Given the description of an element on the screen output the (x, y) to click on. 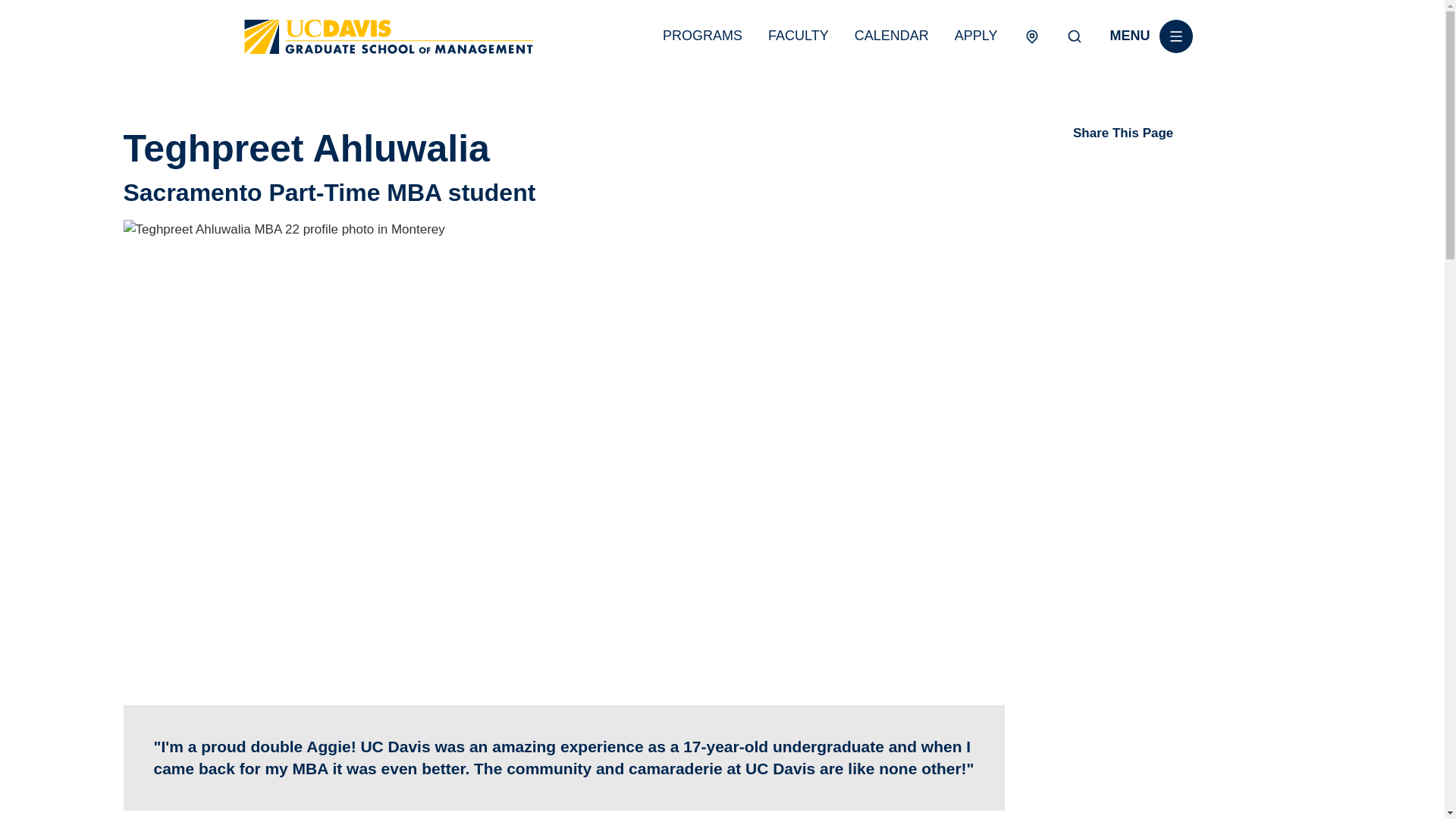
FACULTY (798, 35)
MENU (1151, 36)
CALENDAR (891, 35)
Locations (1031, 36)
Home (387, 35)
PROGRAMS (702, 35)
APPLY (976, 35)
Search (1074, 36)
